Given the description of an element on the screen output the (x, y) to click on. 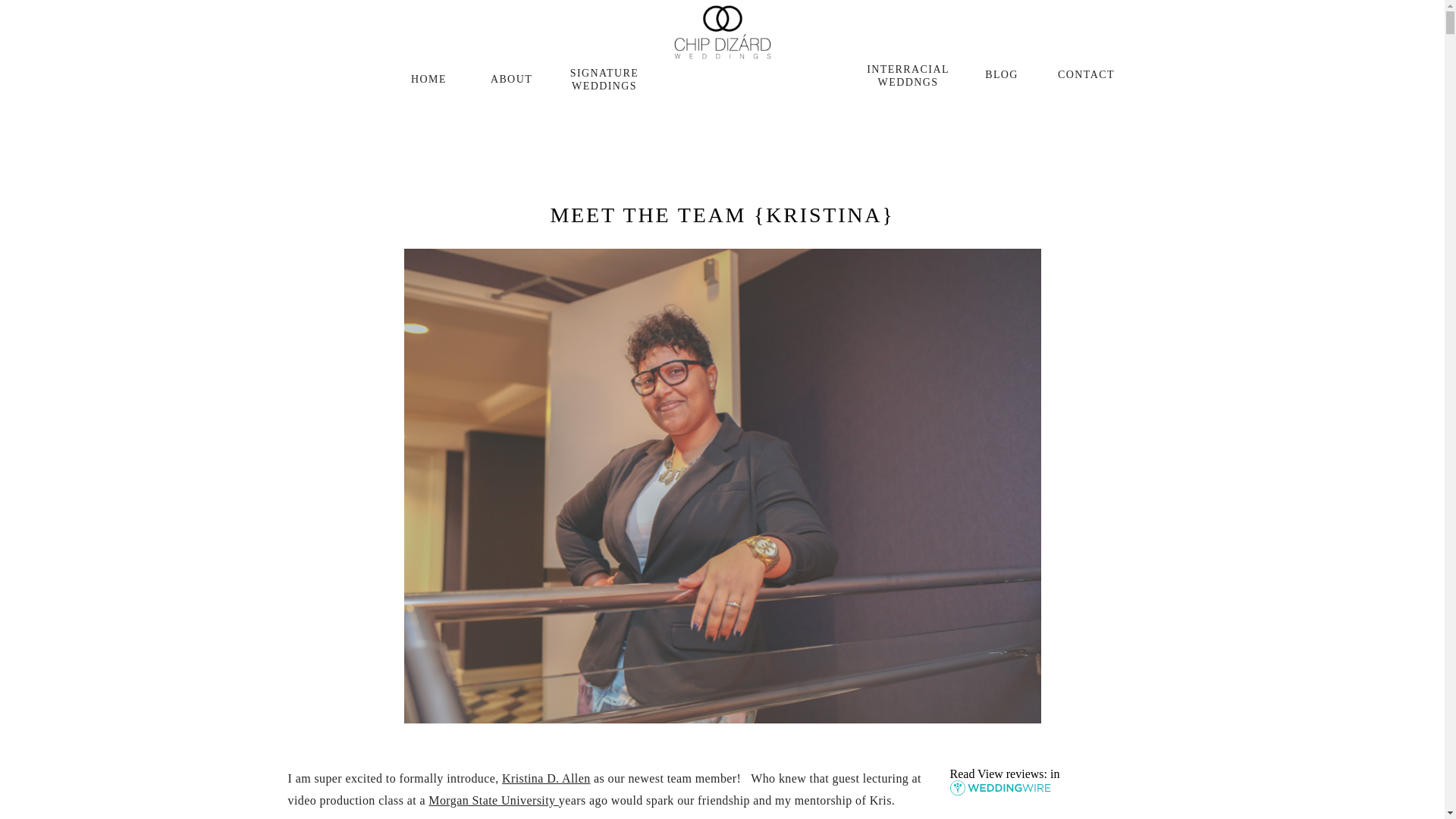
SIGNATURE WEDDINGS (603, 73)
INTERRACIAL WEDDNGS (908, 74)
CONTACT (1085, 80)
Morgan State University (493, 799)
View reviews: (1011, 773)
BLOG (1002, 76)
ABOUT (510, 85)
HOME (427, 85)
Kristina D. Allen (546, 778)
